Given the description of an element on the screen output the (x, y) to click on. 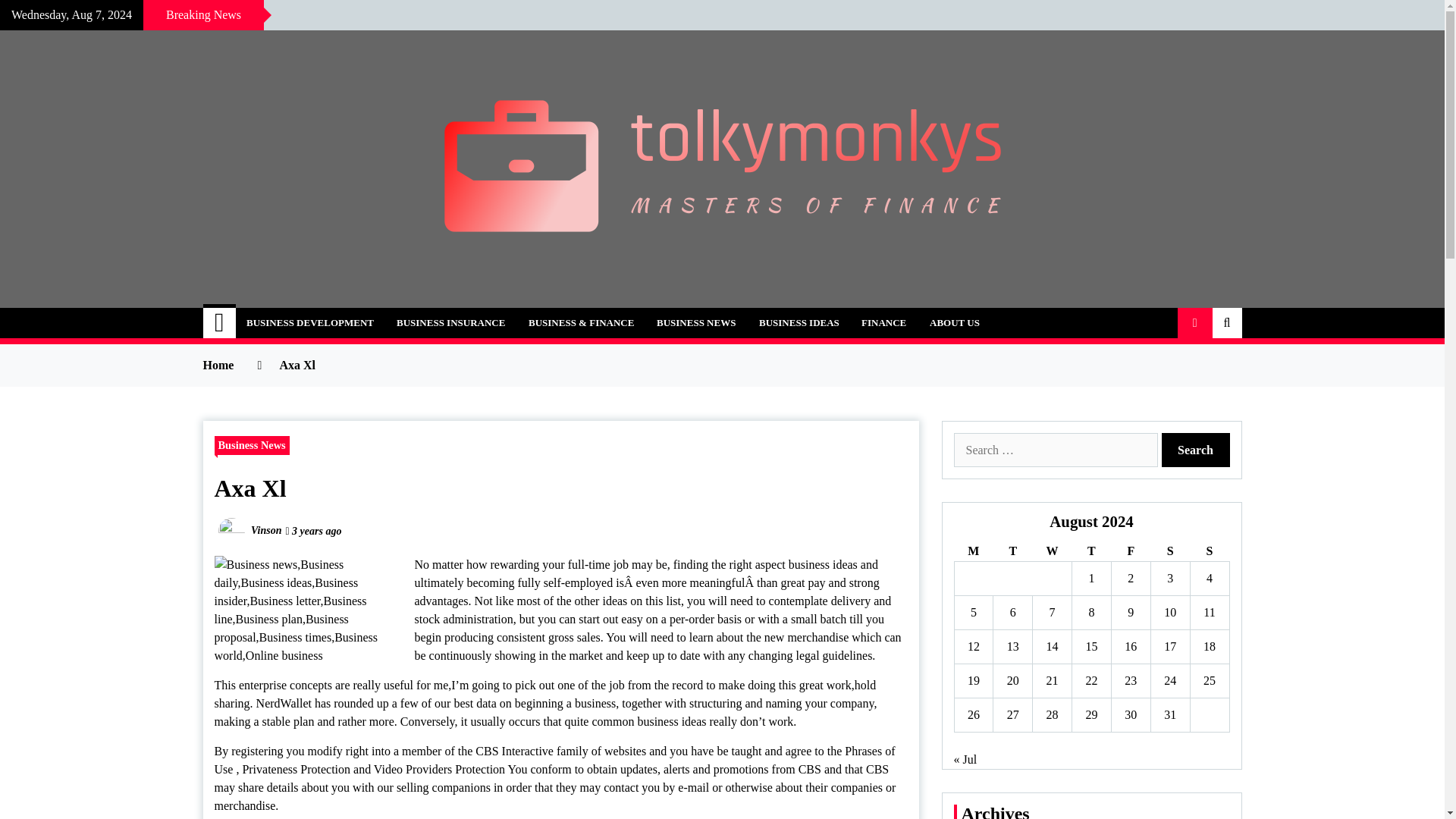
Monday (972, 551)
BUSINESS NEWS (695, 322)
Home (219, 322)
Search (1195, 449)
FINANCE (883, 322)
Friday (1130, 551)
Tuesday (1012, 551)
Sunday (1208, 551)
ABOUT US (954, 322)
Wednesday (1051, 551)
BUSINESS IDEAS (799, 322)
Thursday (1091, 551)
BUSINESS DEVELOPMENT (309, 322)
BUSINESS INSURANCE (450, 322)
Tolkymonkys (303, 314)
